Given the description of an element on the screen output the (x, y) to click on. 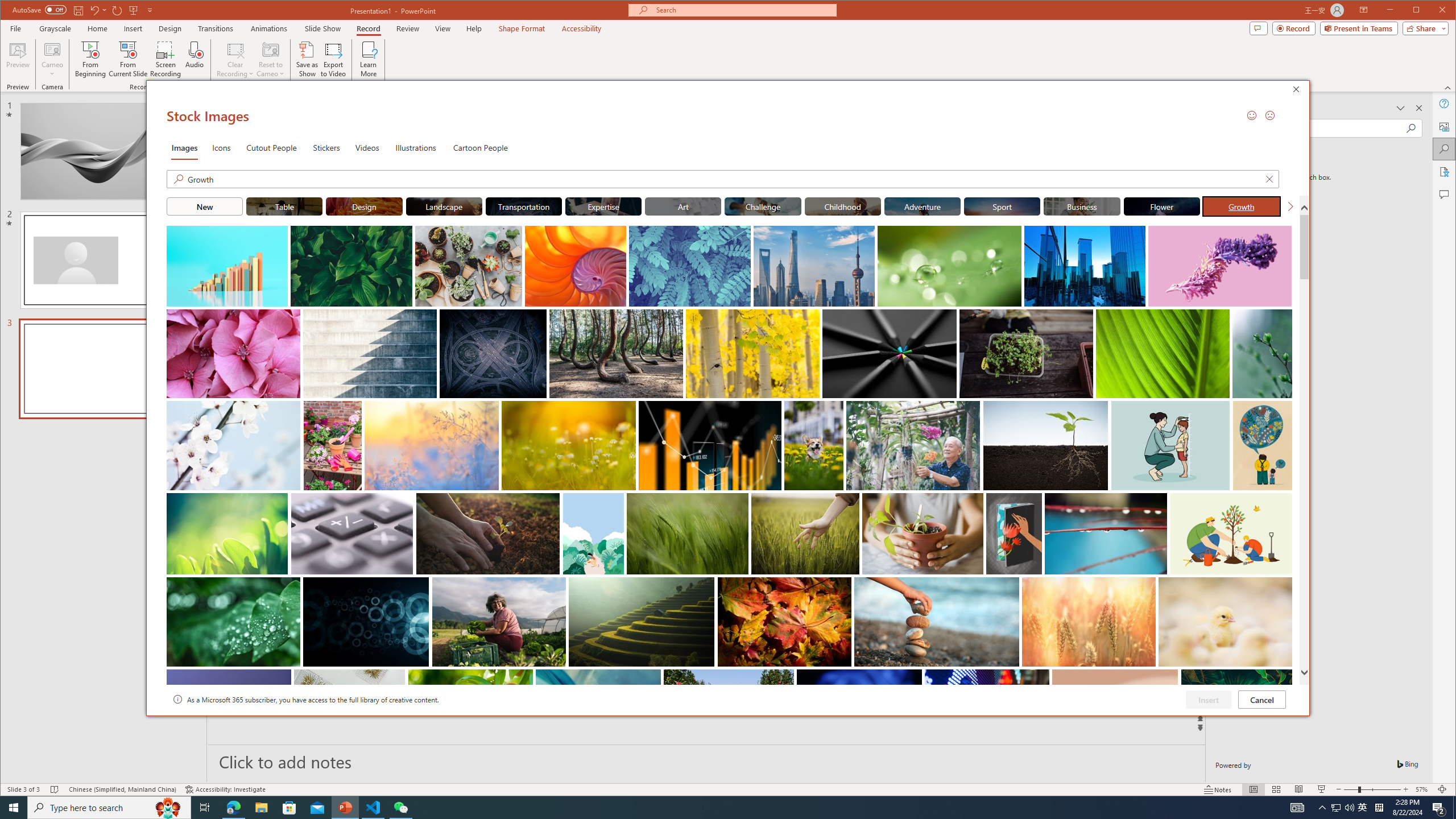
AutomationID: 4105 (1297, 807)
"Table" Stock Images. (283, 206)
Clear Recording (234, 59)
Minimize (1419, 11)
Notes  (1217, 789)
Images (183, 147)
View (443, 28)
Type here to search (108, 807)
Reset to Cameo (269, 59)
